Given the description of an element on the screen output the (x, y) to click on. 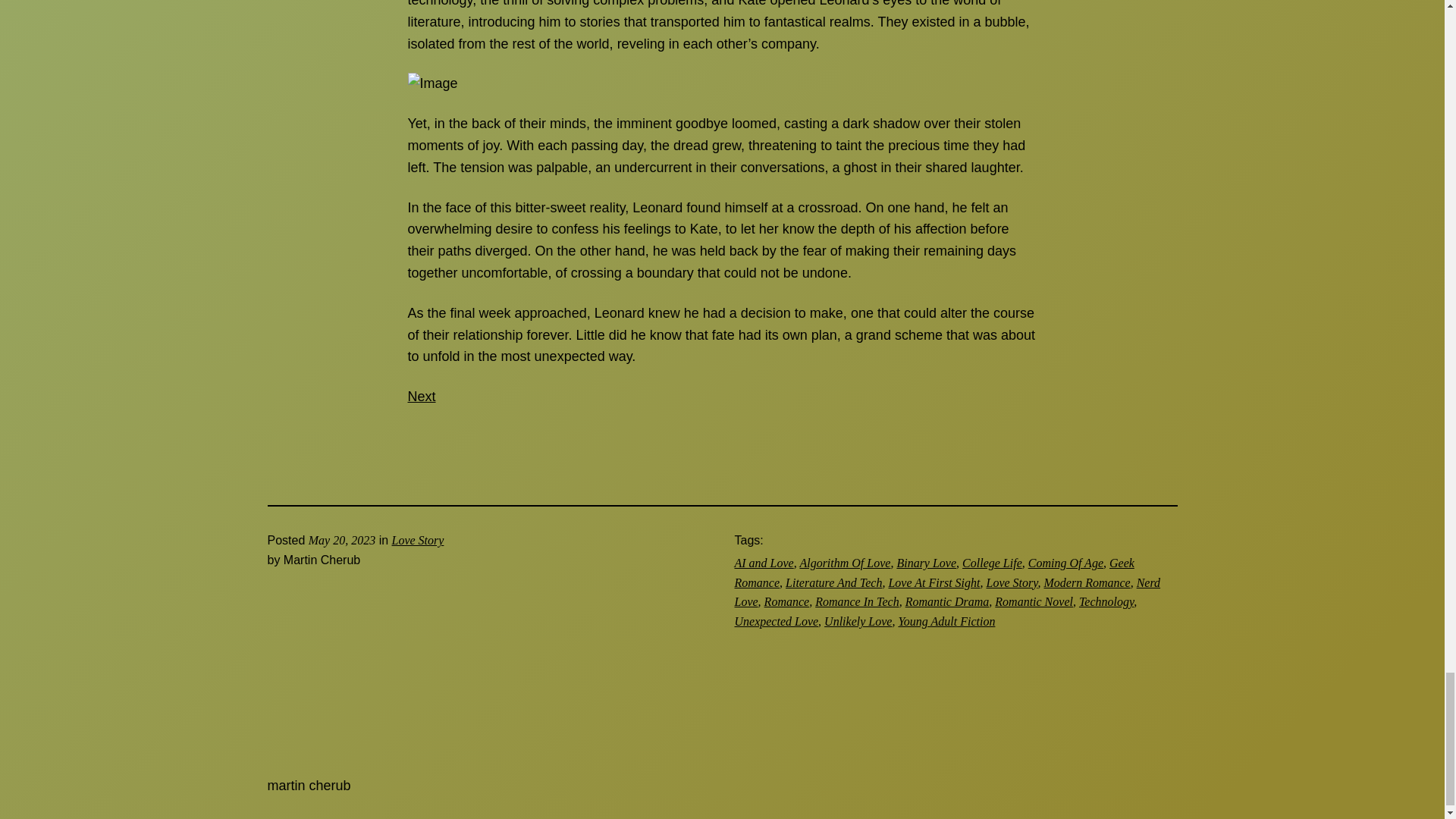
Romance In Tech (857, 601)
Love At First Sight (933, 582)
AI and Love (763, 562)
Love Story (1010, 582)
Technology (1106, 601)
Binary Love (926, 562)
Algorithm Of Love (844, 562)
Romantic Novel (1033, 601)
Nerd Love (946, 592)
Coming Of Age (1065, 562)
